Given the description of an element on the screen output the (x, y) to click on. 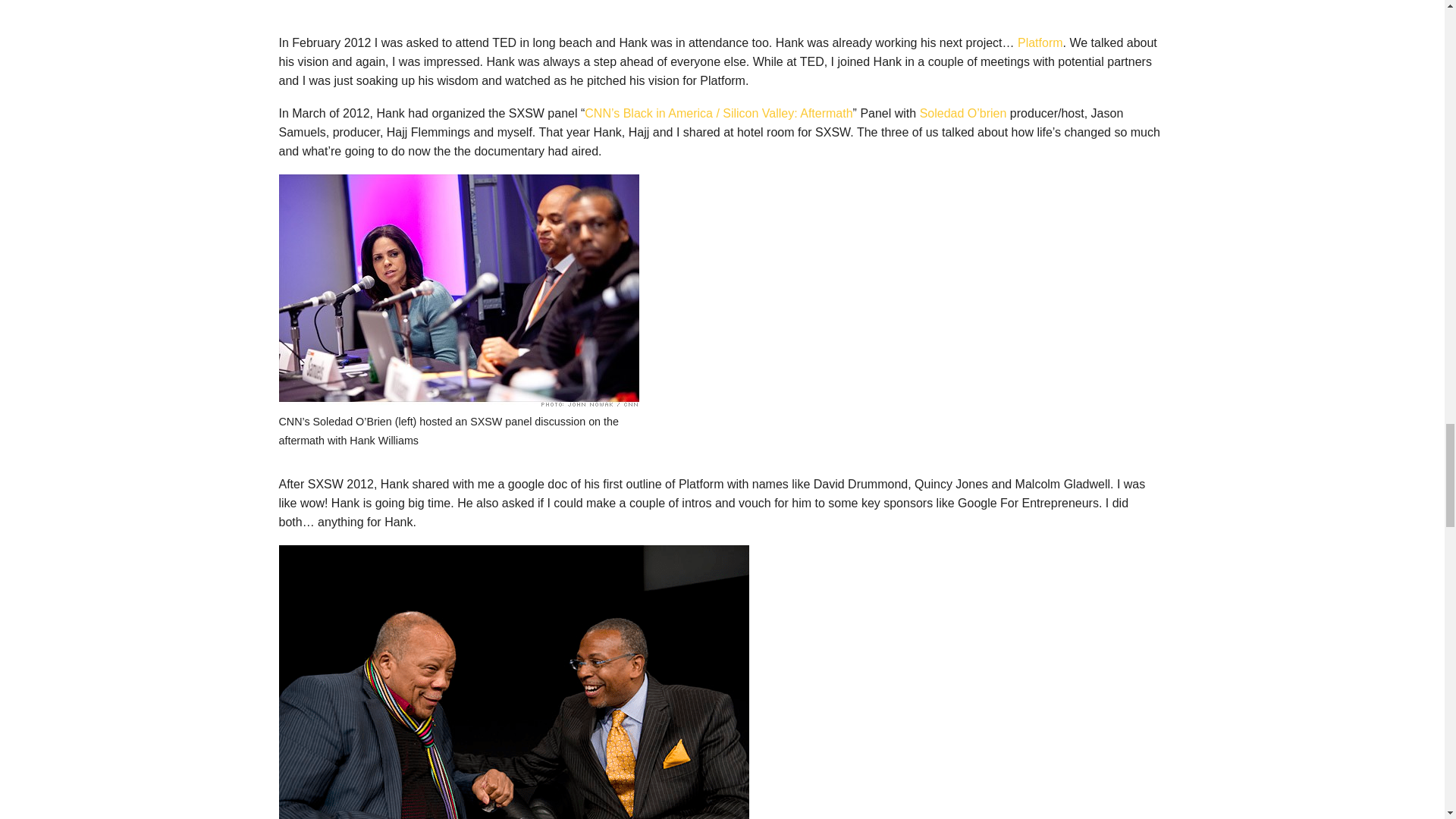
Platform (1039, 42)
